Given the description of an element on the screen output the (x, y) to click on. 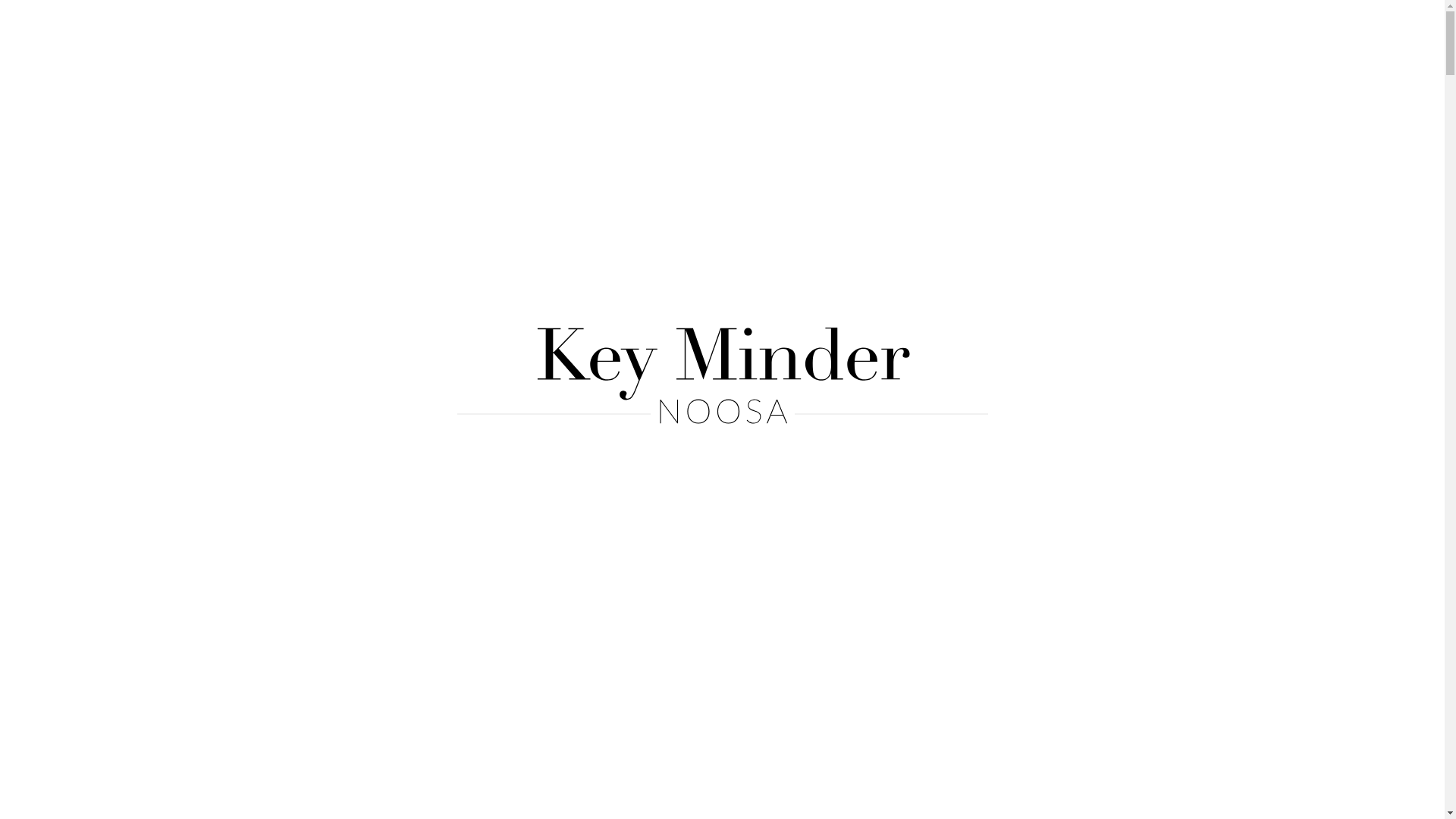
Key Minder Noosa Element type: hover (721, 375)
ENQUIRE Element type: text (1035, 26)
FEATURED PROPERTIES Element type: text (777, 26)
SERVICES Element type: text (933, 26)
KEY MINDER NOOSA Element type: text (449, 26)
ABOUT Element type: text (630, 26)
Read More Element type: text (681, 362)
